Given the description of an element on the screen output the (x, y) to click on. 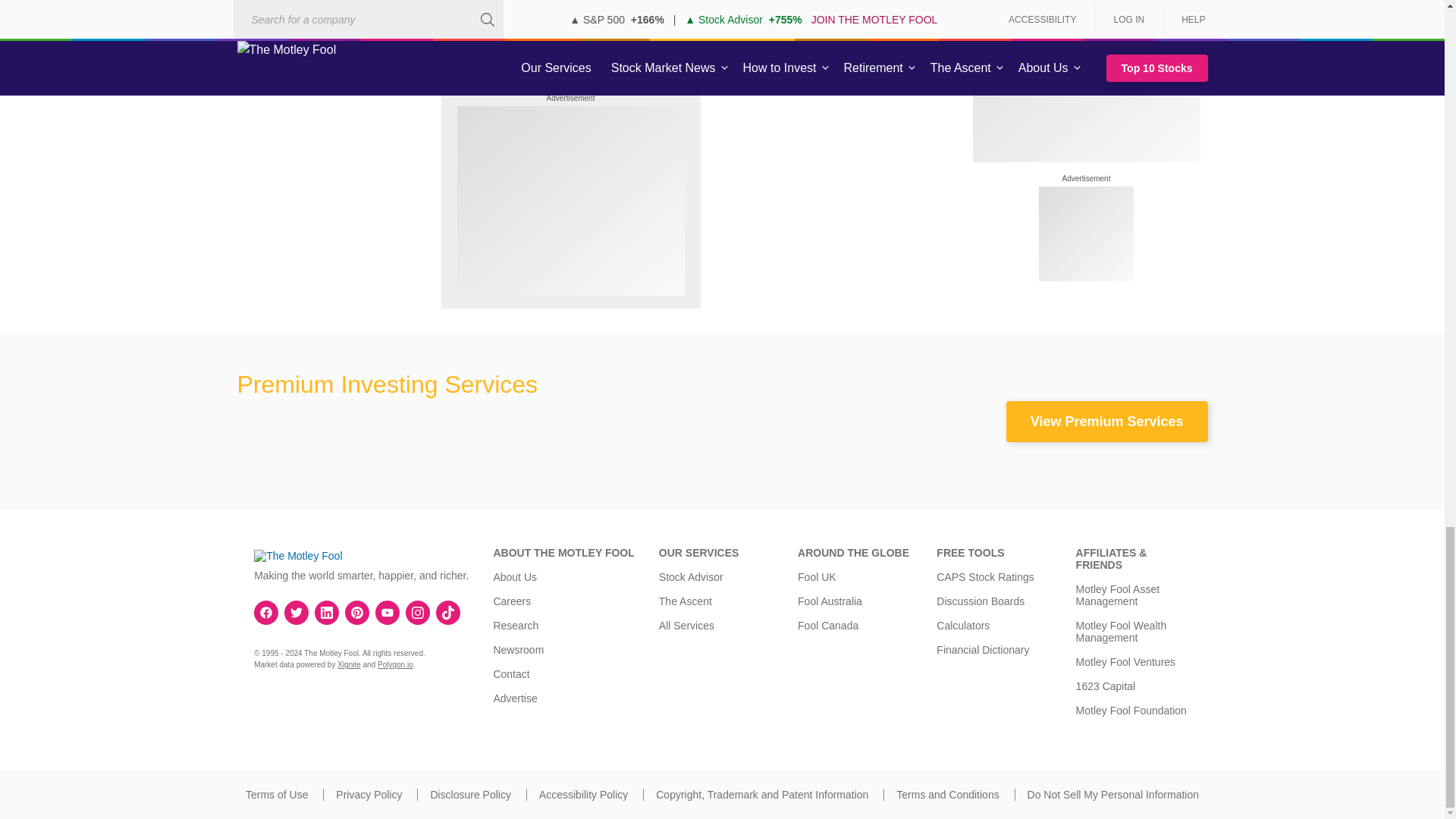
Disclosure Policy (470, 794)
Do Not Sell My Personal Information. (1112, 794)
Copyright, Trademark and Patent Information (761, 794)
Privacy Policy (368, 794)
Accessibility Policy (582, 794)
Terms and Conditions (947, 794)
Terms of Use (276, 794)
